Given the description of an element on the screen output the (x, y) to click on. 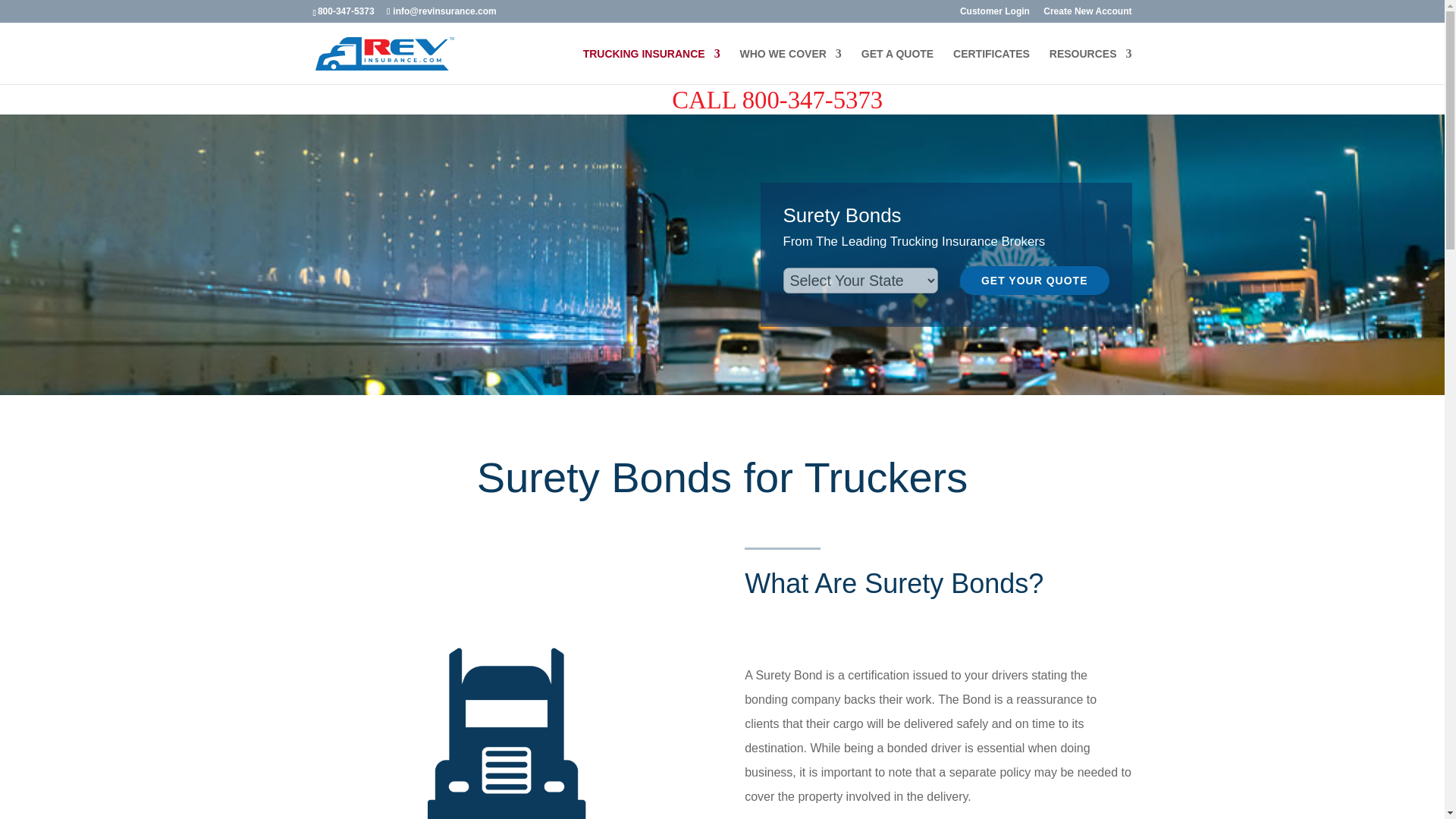
Get Your Quote (1034, 280)
Create New Account (1087, 14)
WHO WE COVER (790, 66)
GET A QUOTE (897, 66)
CERTIFICATES (991, 66)
State (860, 280)
TRUCKING INSURANCE (651, 66)
RESOURCES (1090, 66)
Customer Login (994, 14)
